Given the description of an element on the screen output the (x, y) to click on. 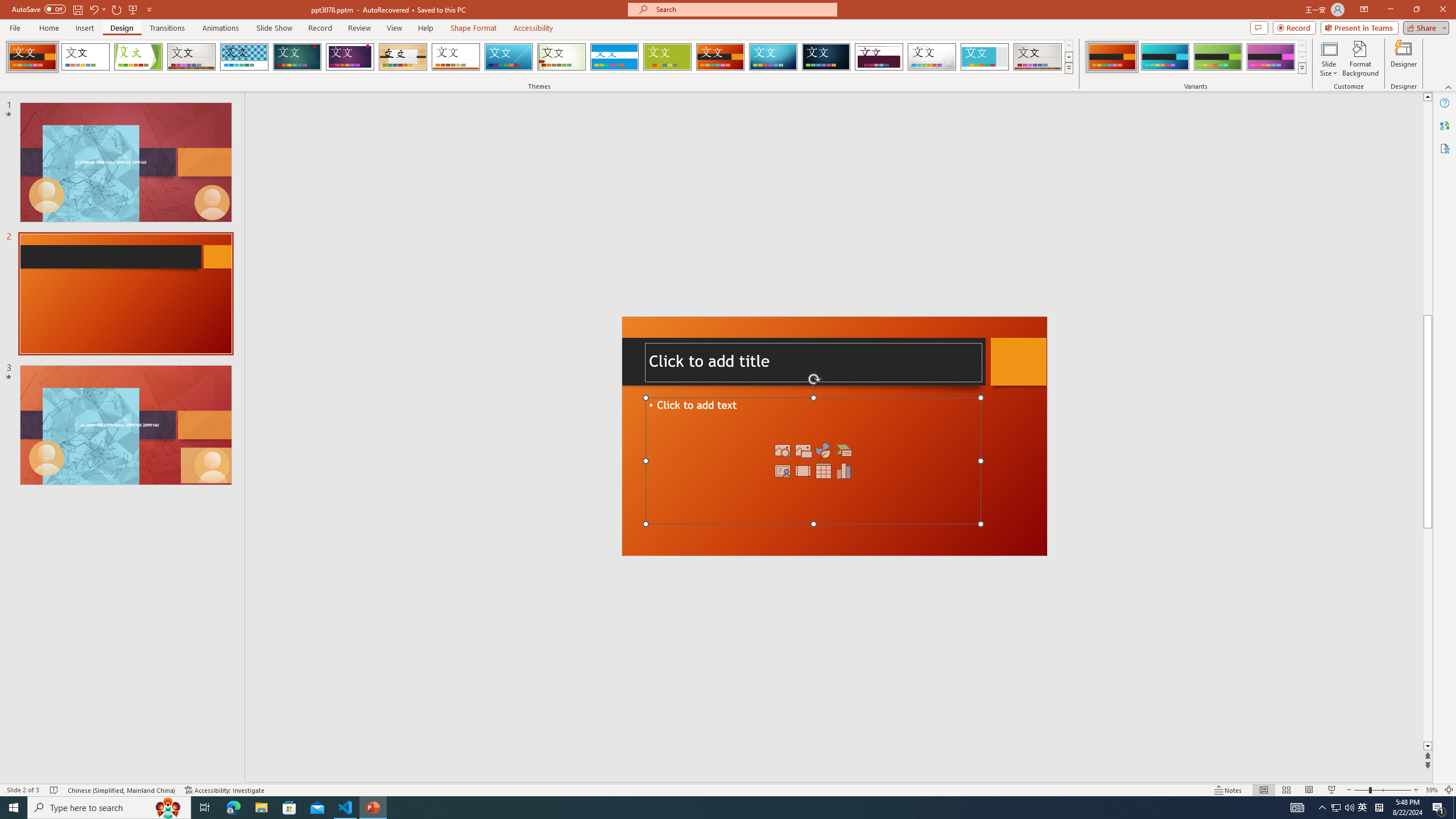
Pictures (802, 450)
AutomationID: ThemeVariantsGallery (1195, 56)
Zoom 59% (1431, 790)
Organic (403, 56)
